Given the description of an element on the screen output the (x, y) to click on. 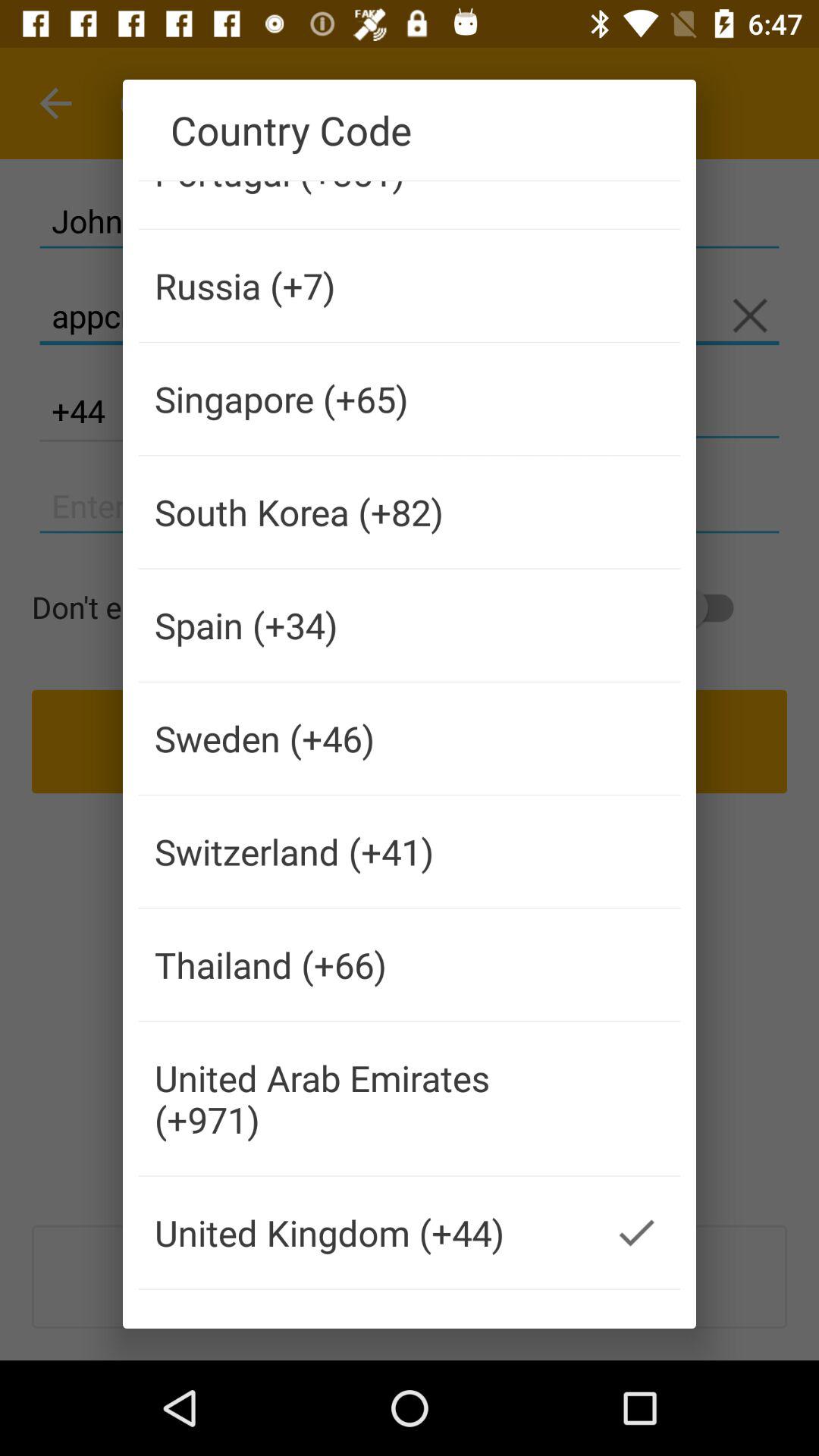
flip to south korea (+82) item (365, 512)
